Given the description of an element on the screen output the (x, y) to click on. 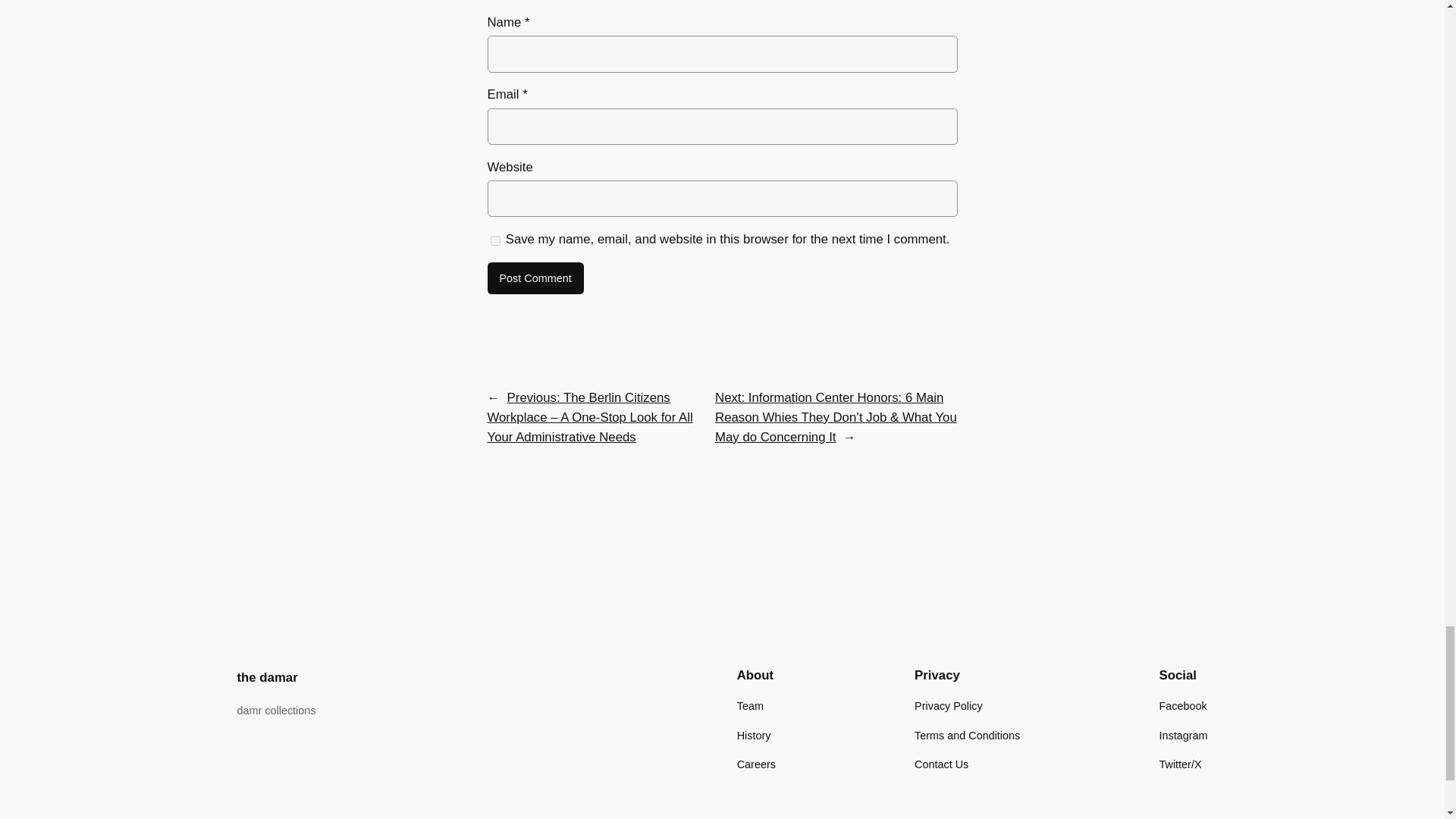
Post Comment (534, 278)
Team (749, 705)
Privacy Policy (948, 705)
Instagram (1182, 734)
History (753, 734)
Careers (756, 764)
Contact Us (941, 764)
Post Comment (534, 278)
the damar (266, 677)
Terms and Conditions (967, 734)
